Given the description of an element on the screen output the (x, y) to click on. 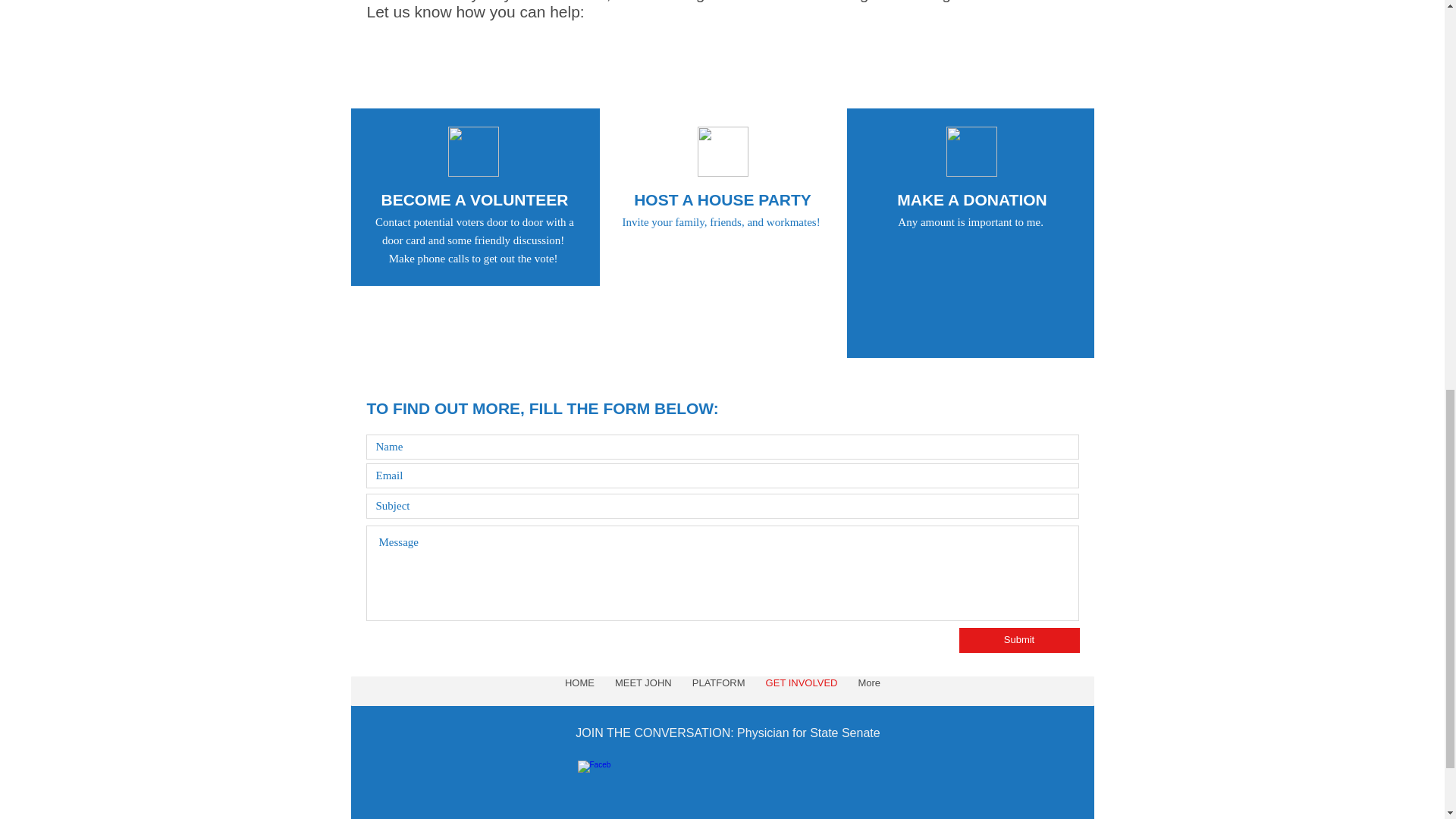
MEET JOHN (642, 690)
Submit (1018, 640)
PLATFORM (718, 690)
HOME (579, 690)
GET INVOLVED (801, 690)
